Given the description of an element on the screen output the (x, y) to click on. 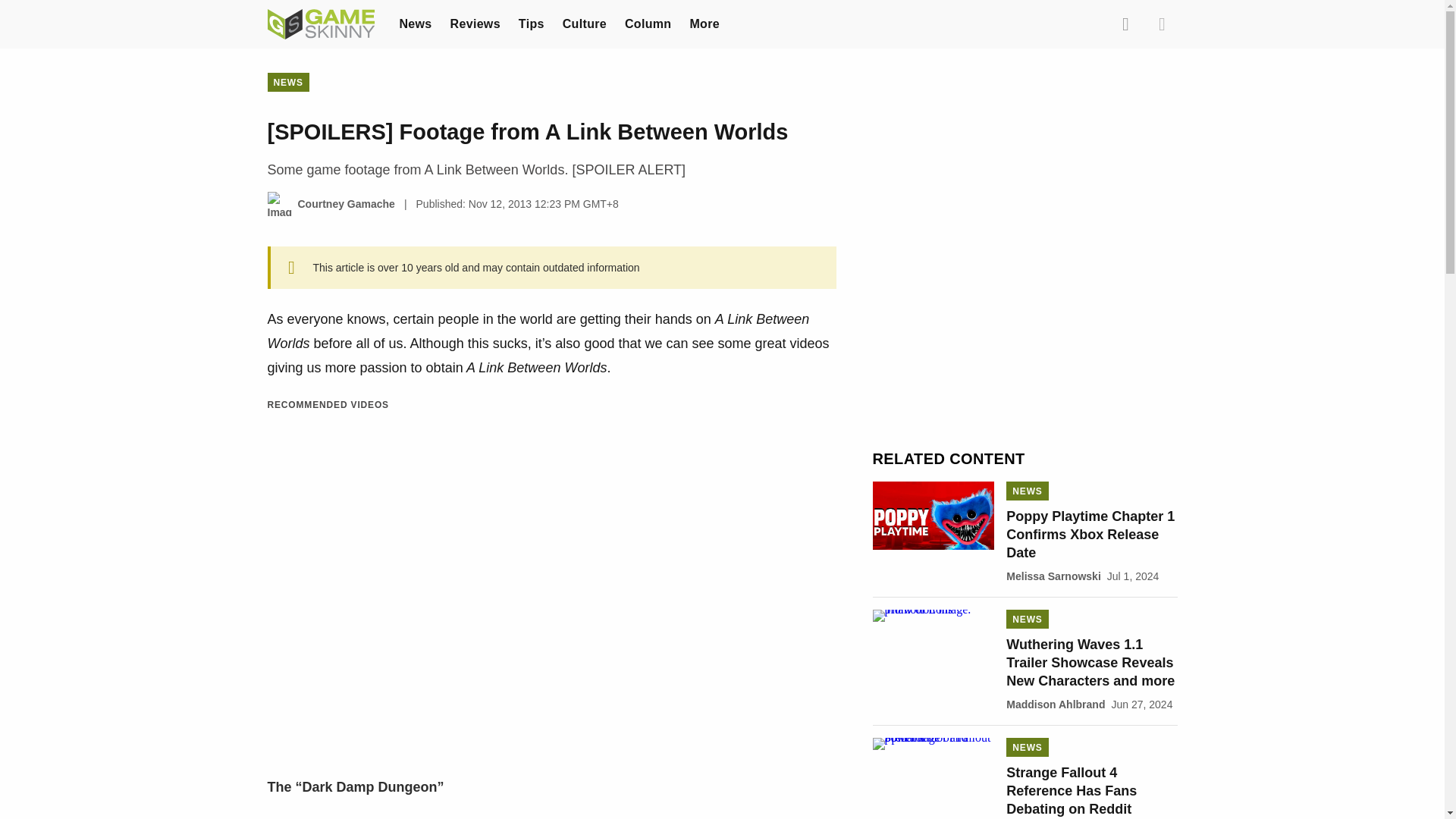
Tips (531, 23)
Dark Mode (1161, 24)
News (414, 23)
NEWS (287, 81)
Search (1124, 24)
Column (647, 23)
Culture (584, 23)
Reviews (474, 23)
